Given the description of an element on the screen output the (x, y) to click on. 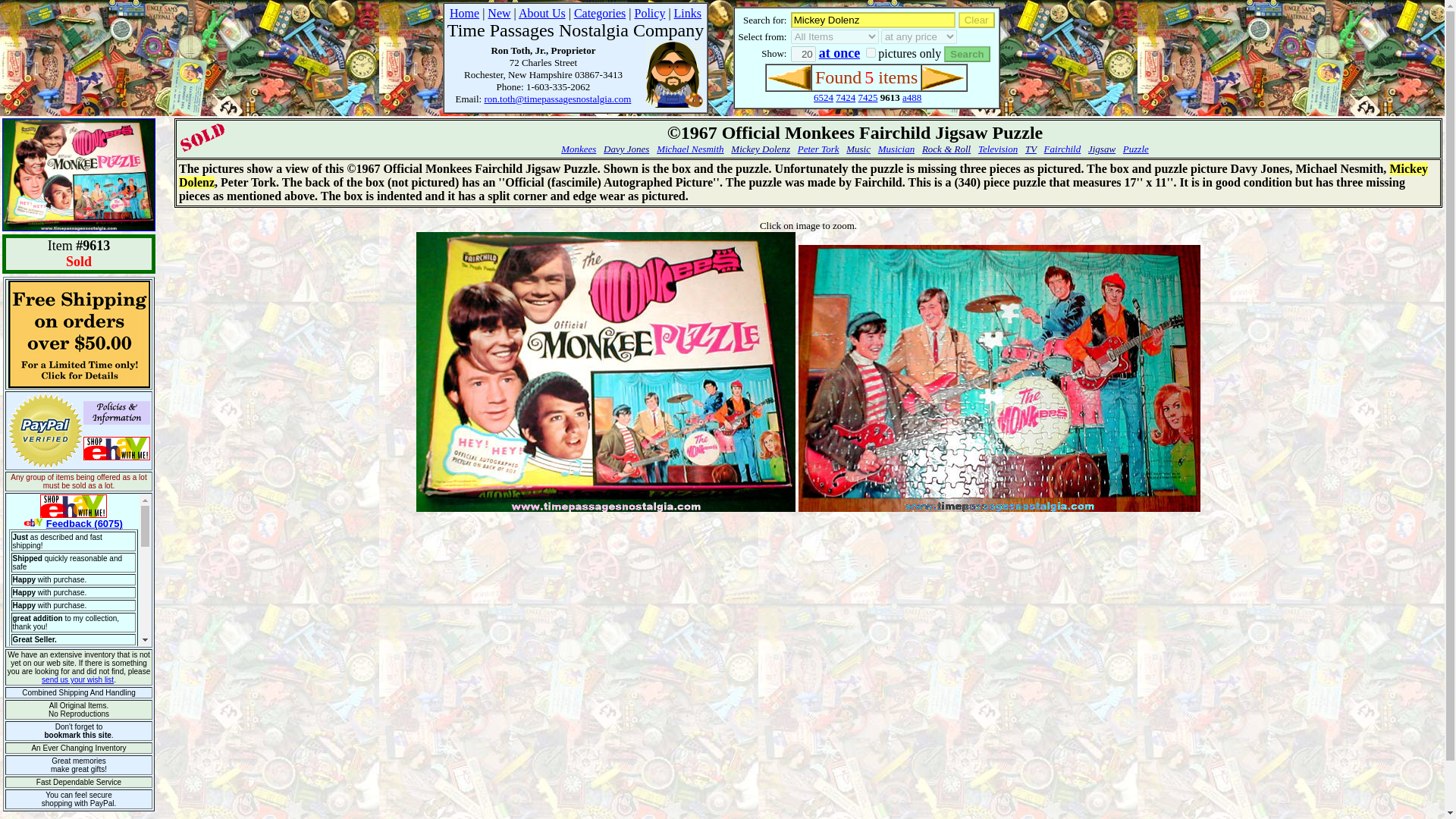
New (499, 12)
Recent Feedback (79, 570)
Jigsaw (1101, 148)
Mickey Dolenz (872, 19)
7424 (845, 97)
send us your wish list (77, 679)
This item is already sold (202, 137)
Home (464, 12)
Clear (976, 19)
Search (966, 53)
bookmark this site (76, 735)
Monkees (577, 148)
Categories (599, 12)
1 (871, 52)
Mickey Dolenz (760, 148)
